Given the description of an element on the screen output the (x, y) to click on. 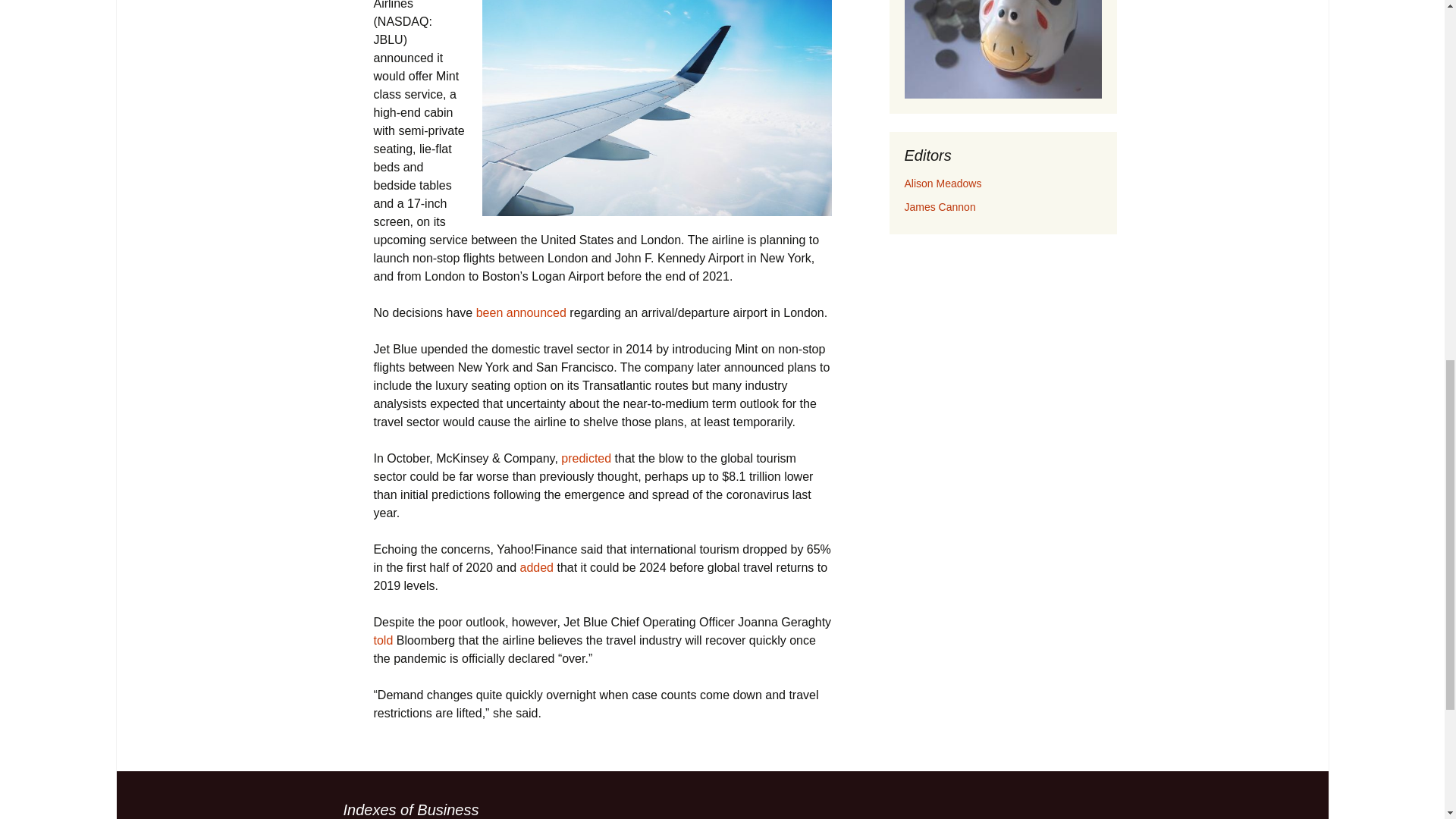
added (536, 567)
predicted (585, 458)
told (382, 640)
been announced (521, 312)
James Cannon (939, 206)
Alison Meadows (942, 183)
